Given the description of an element on the screen output the (x, y) to click on. 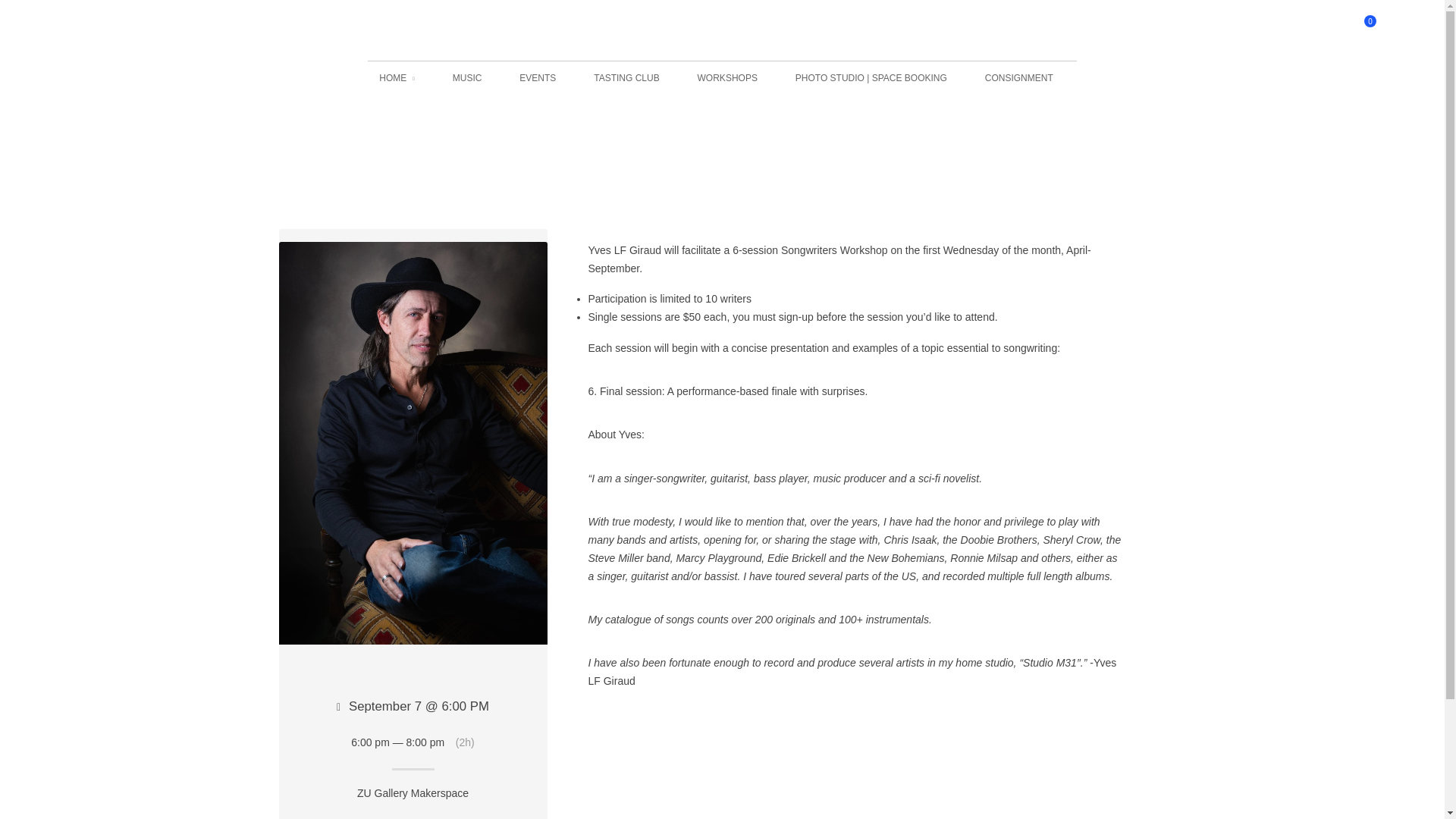
TASTING CLUB (628, 77)
WORKSHOPS (729, 77)
EVENTS (539, 77)
MUSIC (469, 77)
Instagram (1164, 786)
HOME (398, 79)
CONSIGNMENT (1021, 77)
View Cart (1366, 30)
Instagram (85, 30)
